Given the description of an element on the screen output the (x, y) to click on. 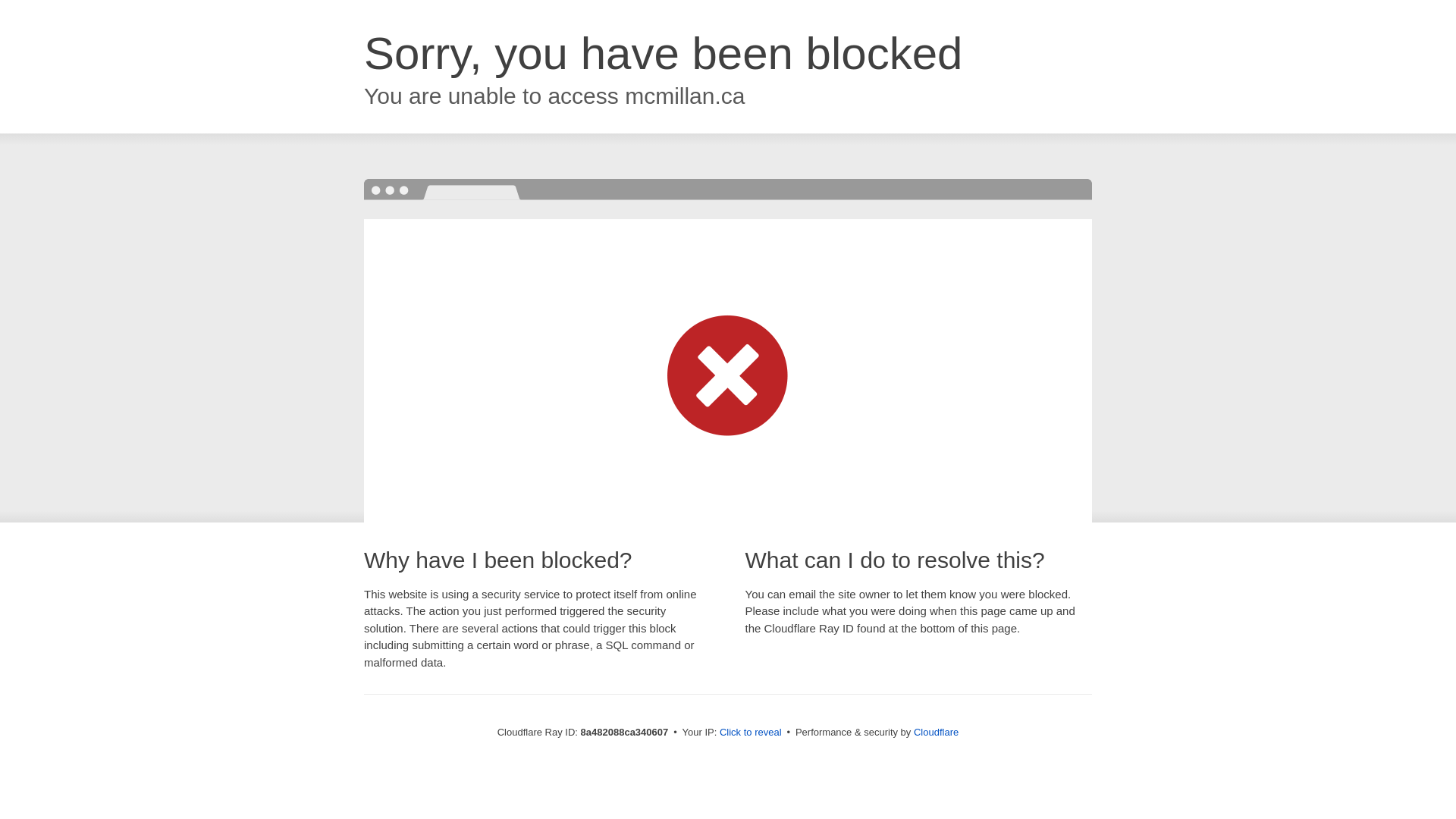
Cloudflare (936, 731)
Click to reveal (750, 732)
